Given the description of an element on the screen output the (x, y) to click on. 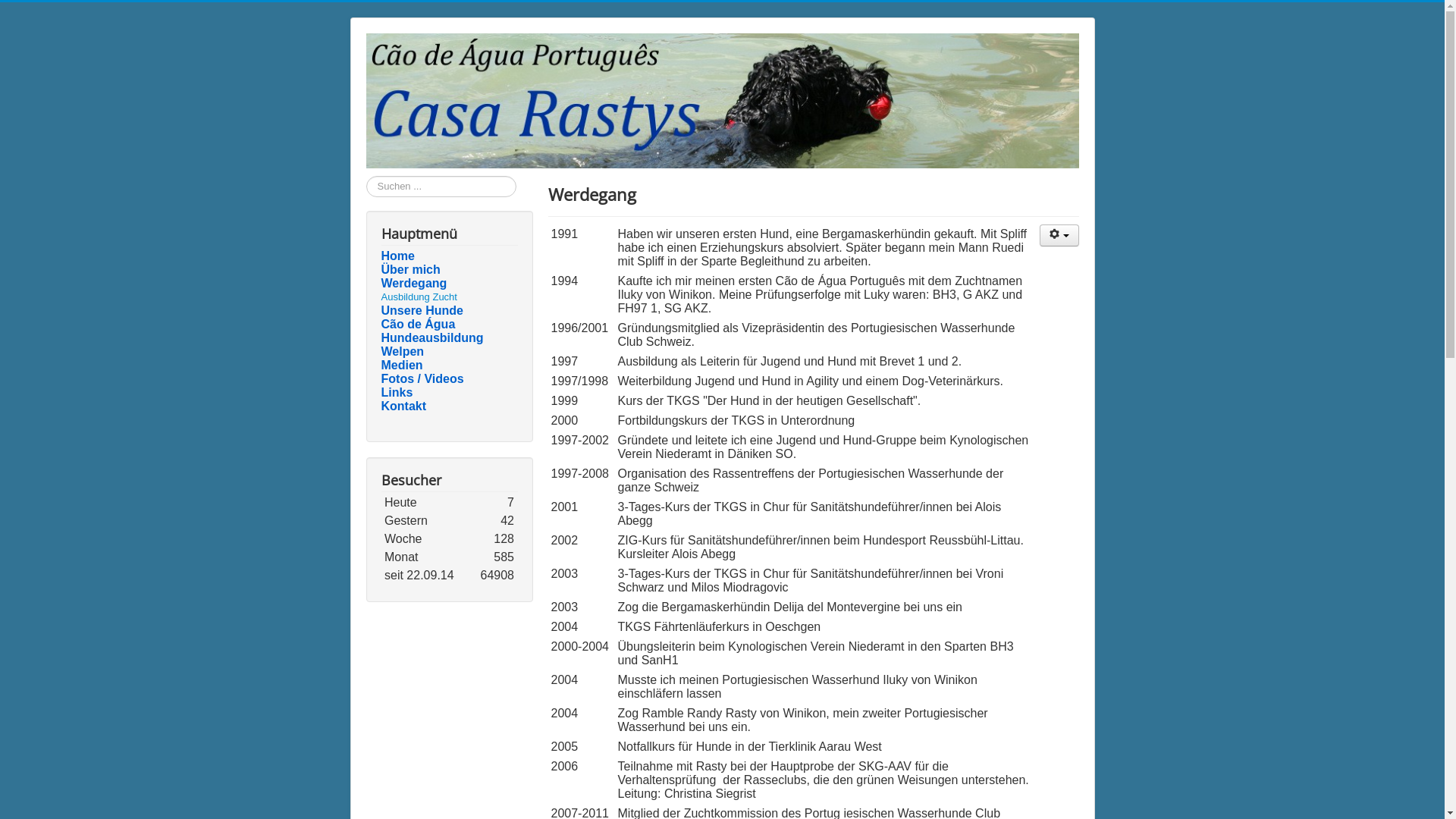
Home Element type: text (448, 256)
Unsere Hunde Element type: text (448, 310)
Kontakt Element type: text (448, 406)
Ausbildung Zucht Element type: text (418, 296)
Fotos / Videos Element type: text (448, 378)
Medien Element type: text (448, 365)
Hundeausbildung Element type: text (448, 338)
Welpen Element type: text (448, 351)
Links Element type: text (448, 392)
Werdegang Element type: text (448, 283)
